Given the description of an element on the screen output the (x, y) to click on. 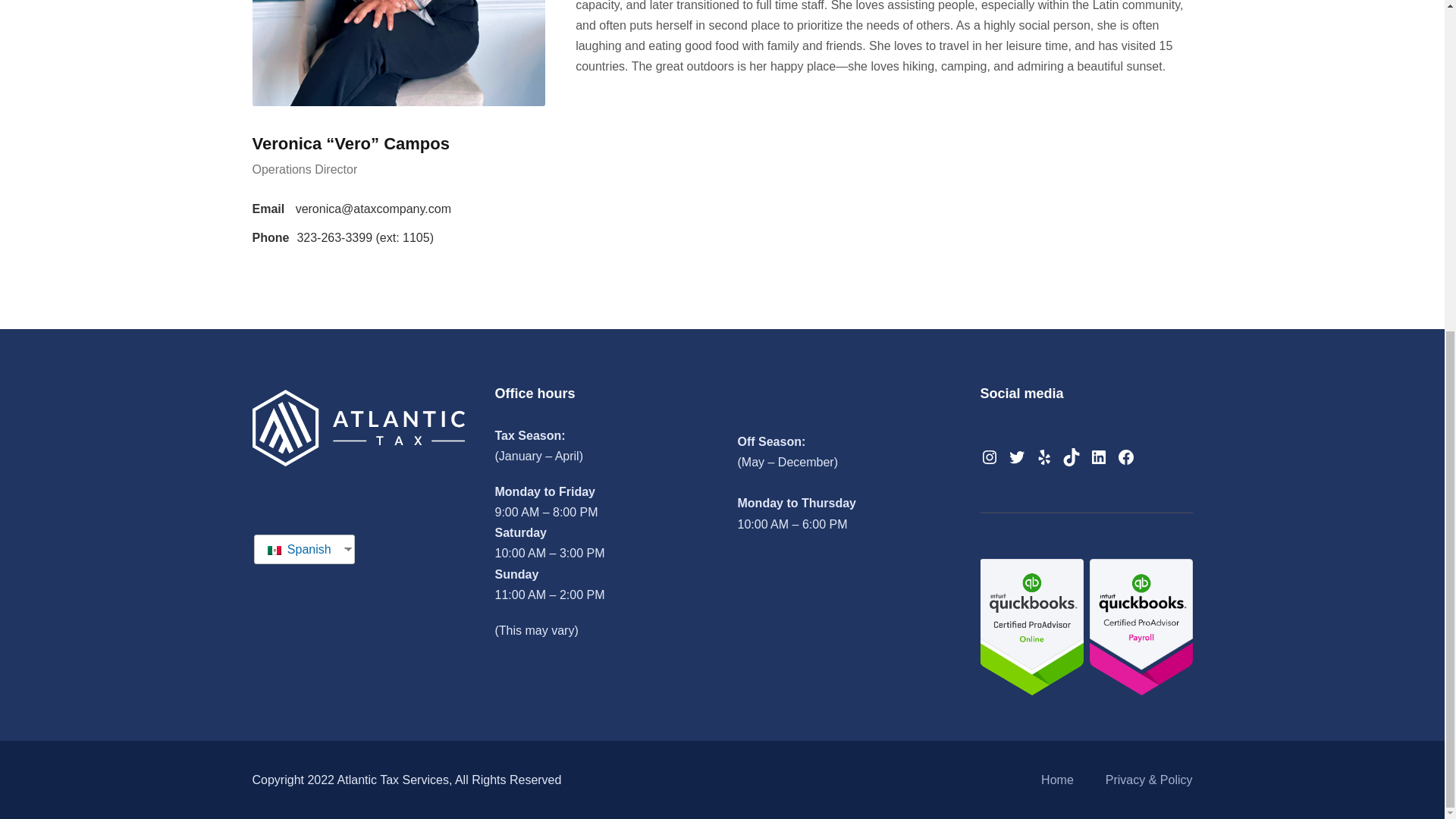
Instagram (988, 456)
Spanish (297, 549)
Facebook (1125, 456)
LinkedIn (1097, 456)
Twitter (1016, 456)
Spanish (297, 549)
Yelp (1042, 456)
vero (397, 53)
Spanish (274, 549)
Home (1057, 779)
